Given the description of an element on the screen output the (x, y) to click on. 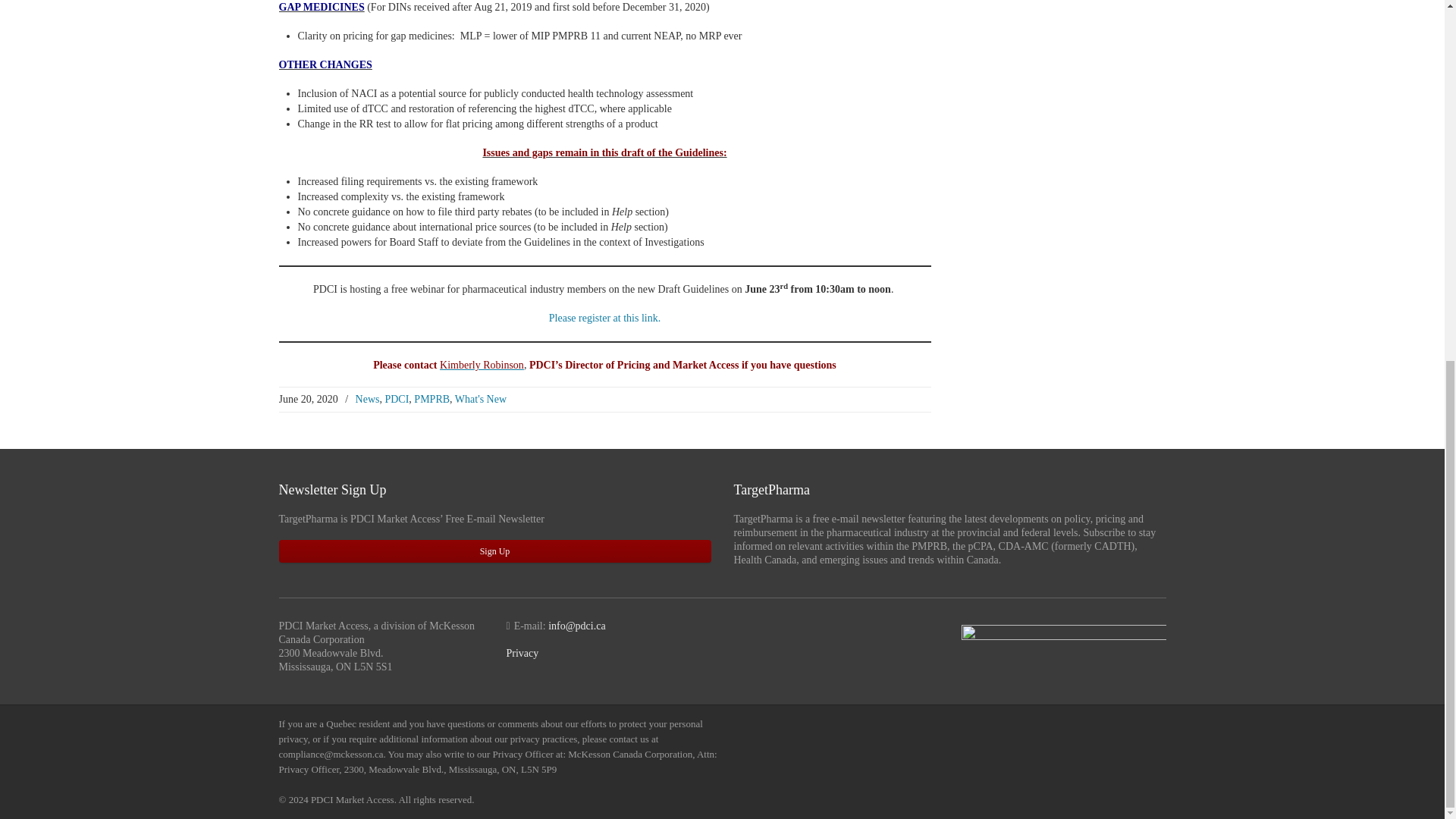
PDCI (396, 398)
Sign Up (495, 550)
Please register at this link. (604, 317)
Privacy (522, 653)
PMPRB (431, 398)
News (367, 398)
Kimberly Robinson (481, 365)
What's New (480, 398)
